Given the description of an element on the screen output the (x, y) to click on. 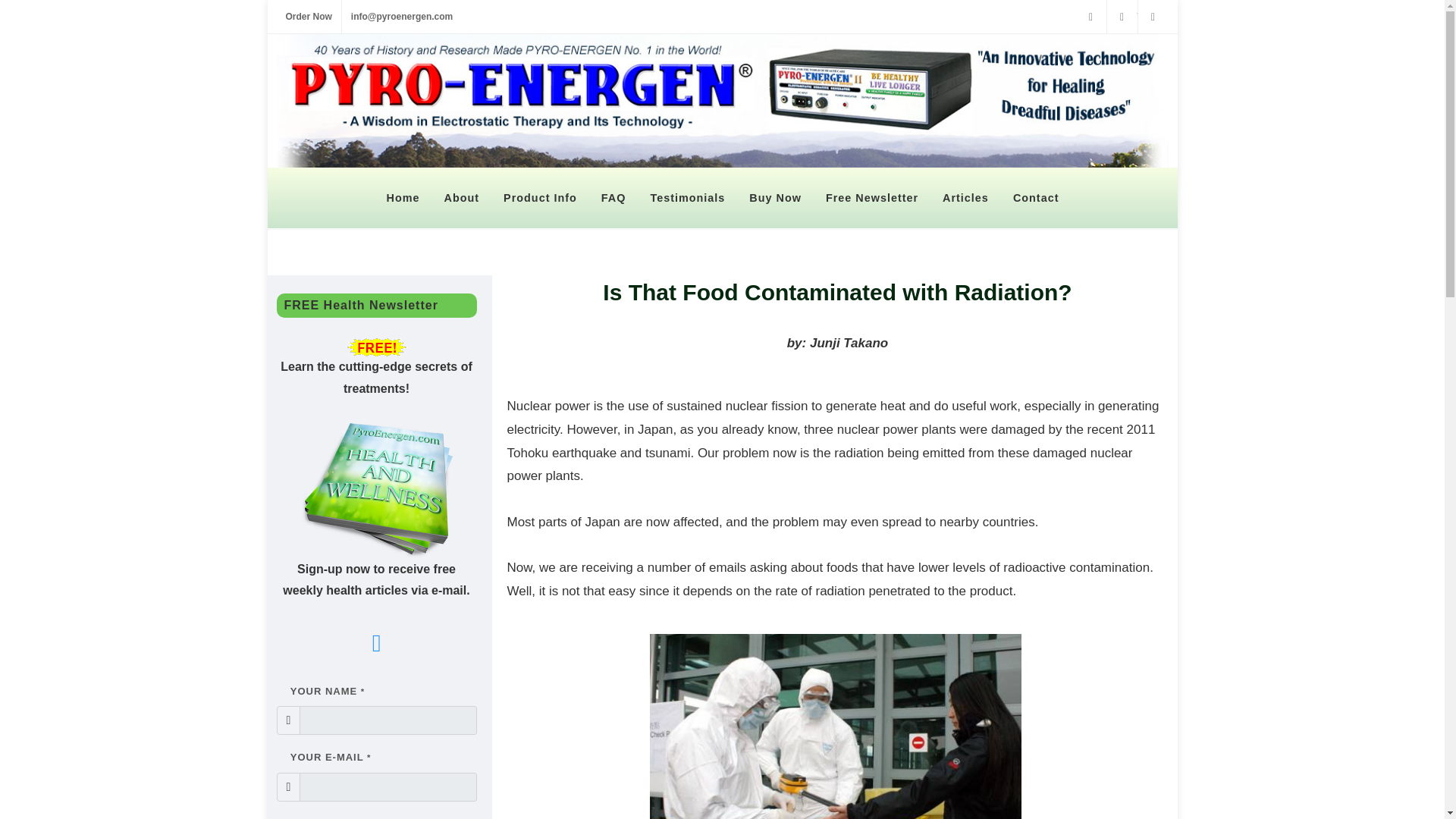
Free Newsletter (870, 197)
Buy Now (775, 197)
Testimonials (687, 197)
Contact (1035, 197)
Product Info (540, 197)
About (461, 197)
Order Now (308, 16)
Home (402, 197)
Articles (965, 197)
